Given the description of an element on the screen output the (x, y) to click on. 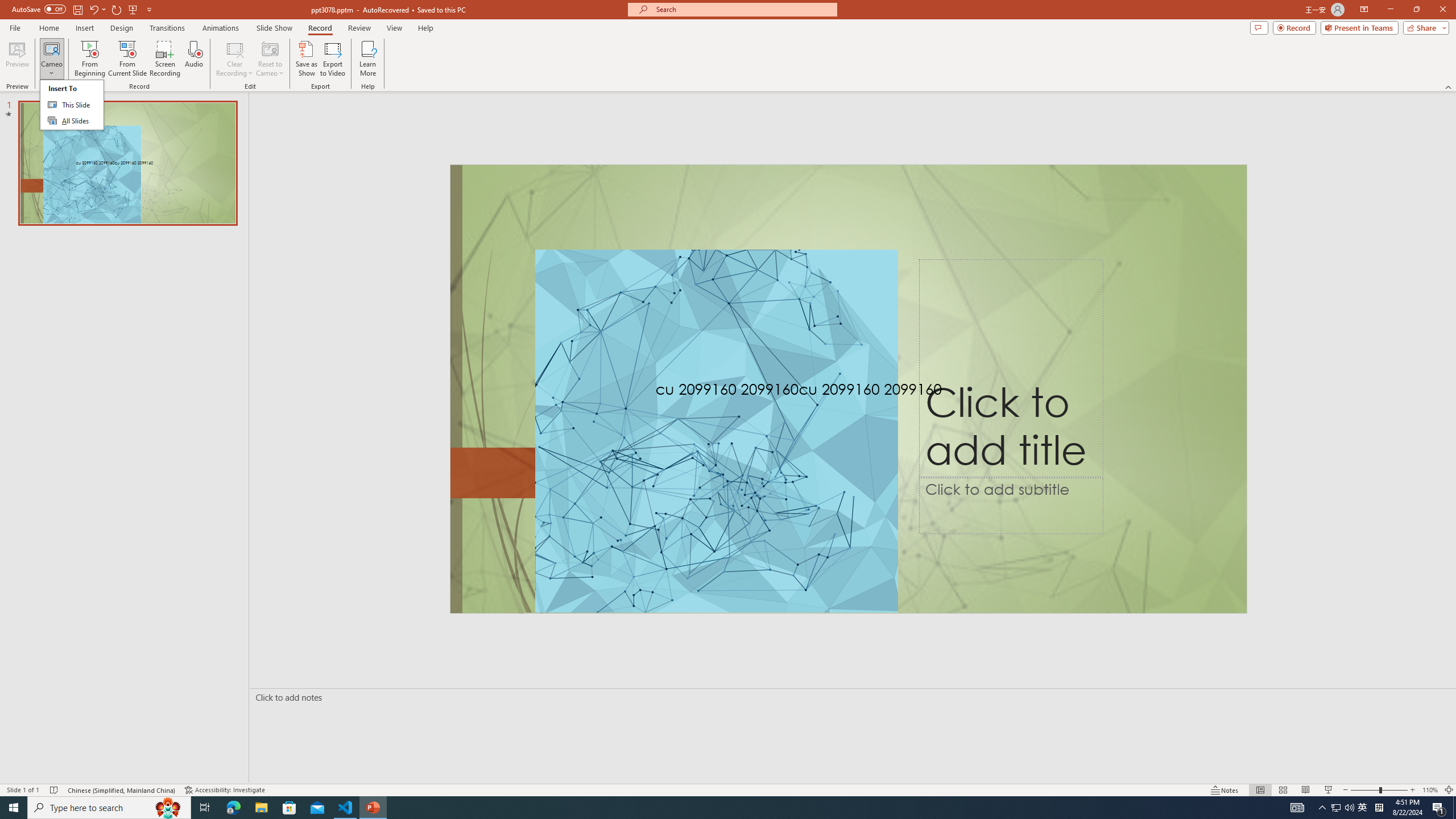
Undo (96, 9)
Comments (1259, 27)
Reset to Cameo (269, 58)
Running applications (707, 807)
Transitions (1362, 807)
Slide Show (167, 28)
Task View (273, 28)
Notes  (204, 807)
More Options (1225, 790)
Minimize (51, 68)
Cameo (1390, 9)
Collapse the Ribbon (51, 48)
Animations (1448, 86)
